Given the description of an element on the screen output the (x, y) to click on. 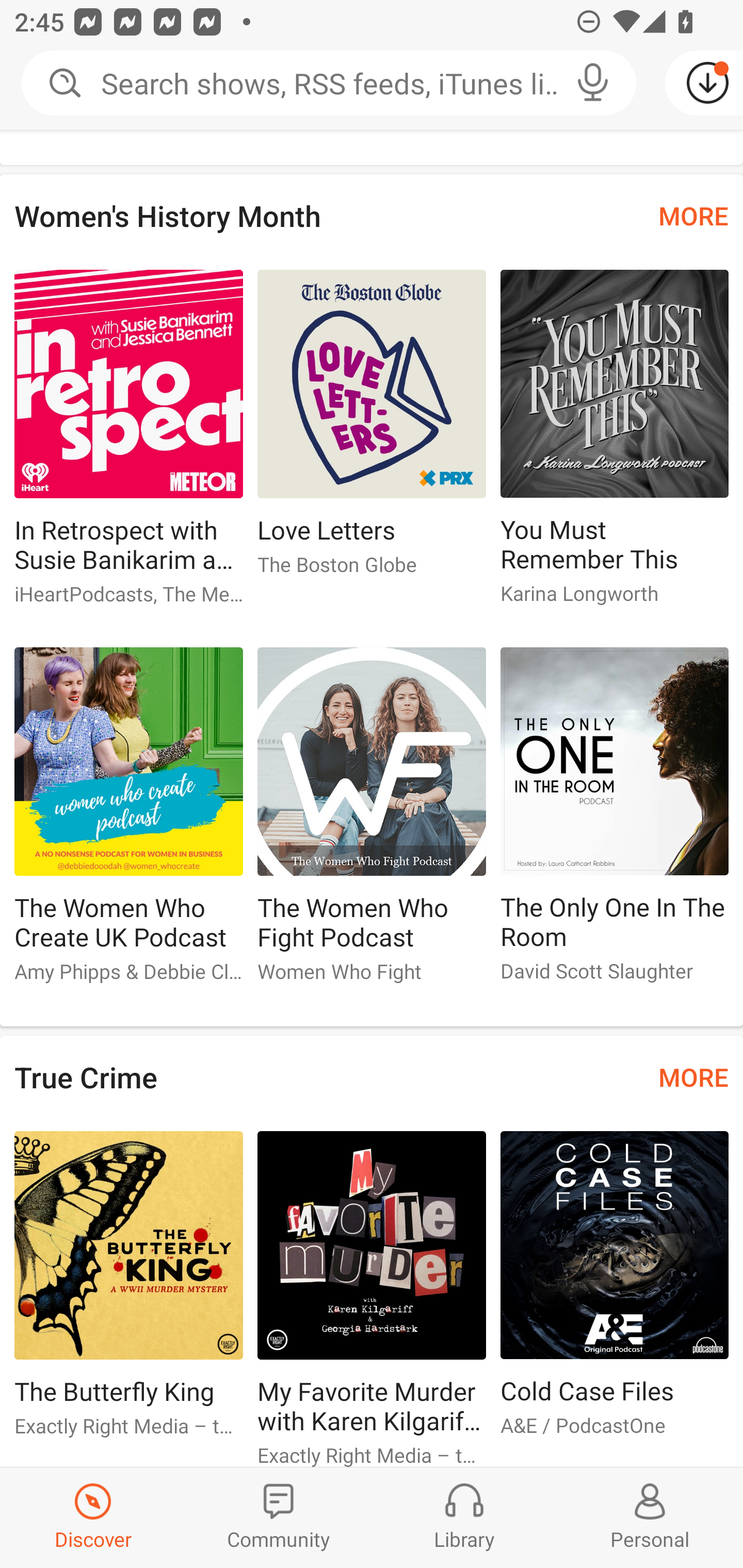
MORE (693, 215)
Love Letters Love Letters The Boston Globe (371, 430)
MORE (693, 1076)
Cold Case Files Cold Case Files A&E / PodcastOne (614, 1291)
Discover (92, 1517)
Community (278, 1517)
Library (464, 1517)
Profiles and Settings Personal (650, 1517)
